Given the description of an element on the screen output the (x, y) to click on. 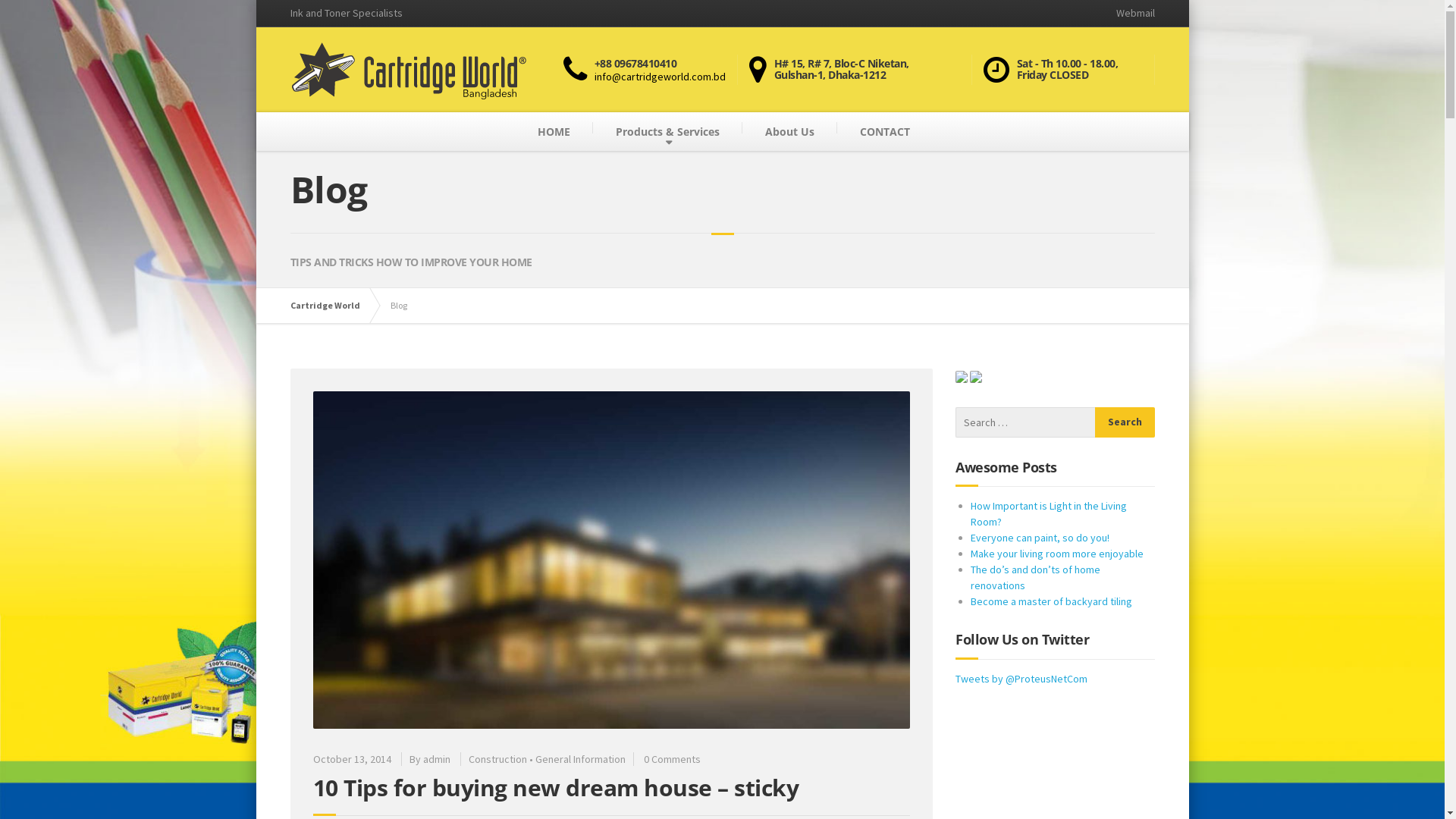
Webmail Element type: text (1129, 13)
Cartridge World Element type: text (331, 305)
About Us Element type: text (789, 131)
Become a master of backyard tiling Element type: text (1051, 601)
+88 09678410410
info@cartridgeworld.com.bd Element type: text (649, 69)
HOME Element type: text (553, 131)
CONTACT Element type: text (884, 131)
How Important is Light in the Living Room? Element type: text (1048, 513)
0 Comments Element type: text (671, 758)
Construction Element type: text (497, 758)
Products & Services Element type: text (667, 131)
Everyone can paint, so do you! Element type: text (1039, 537)
Make your living room more enjoyable Element type: text (1056, 553)
General Information Element type: text (580, 758)
Search Element type: text (1124, 422)
Tweets by @ProteusNetCom Element type: text (1021, 678)
